Given the description of an element on the screen output the (x, y) to click on. 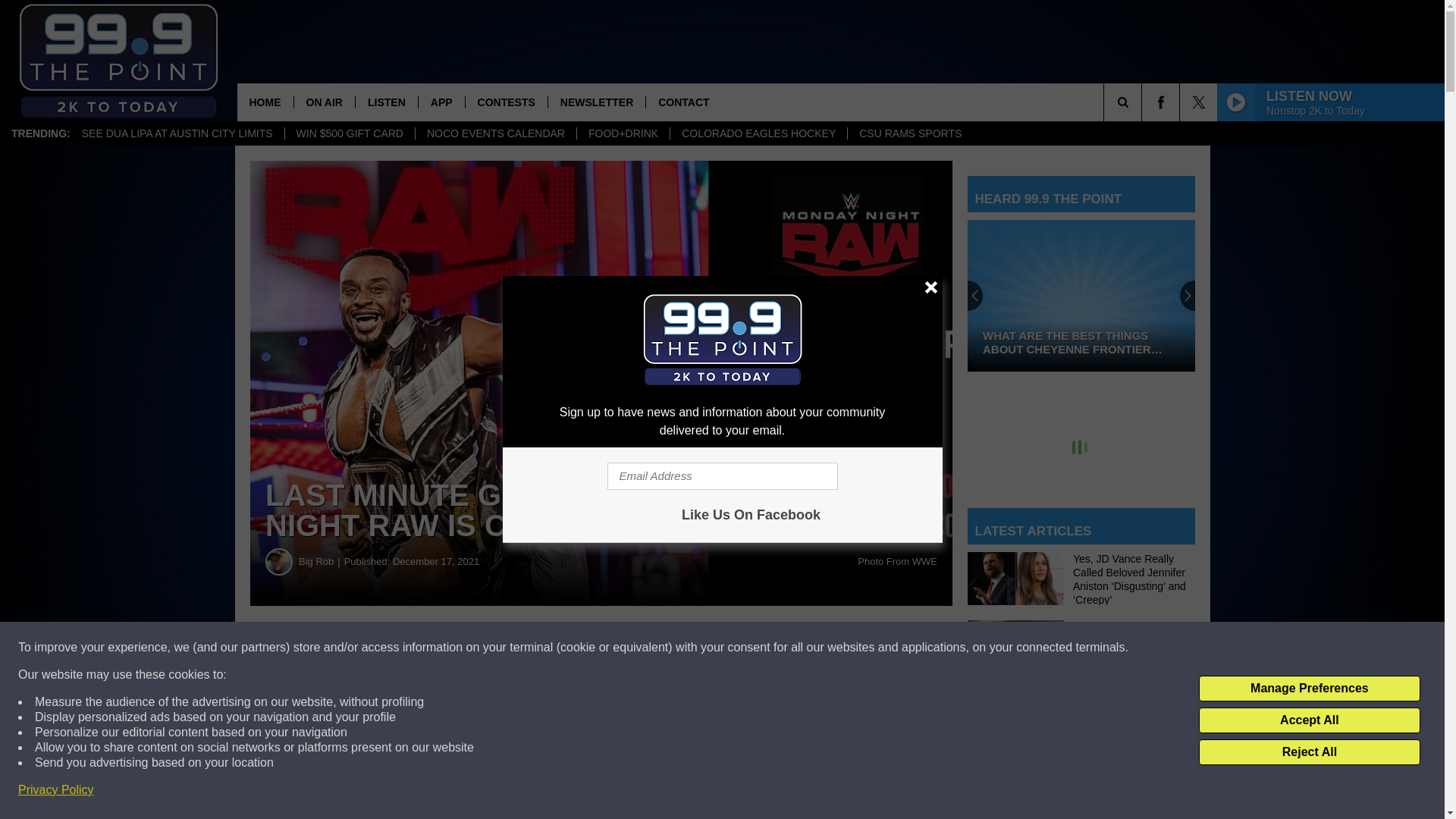
Reject All (1309, 751)
SEE DUA LIPA AT AUSTIN CITY LIMITS (176, 133)
Accept All (1309, 720)
CONTACT (682, 102)
LISTEN (386, 102)
APP (440, 102)
SEARCH (1144, 102)
ON AIR (322, 102)
CSU RAMS SPORTS (909, 133)
Manage Preferences (1309, 688)
SEARCH (1144, 102)
Privacy Policy (55, 789)
NEWSLETTER (596, 102)
Email Address (722, 475)
Share on Twitter (741, 647)
